Given the description of an element on the screen output the (x, y) to click on. 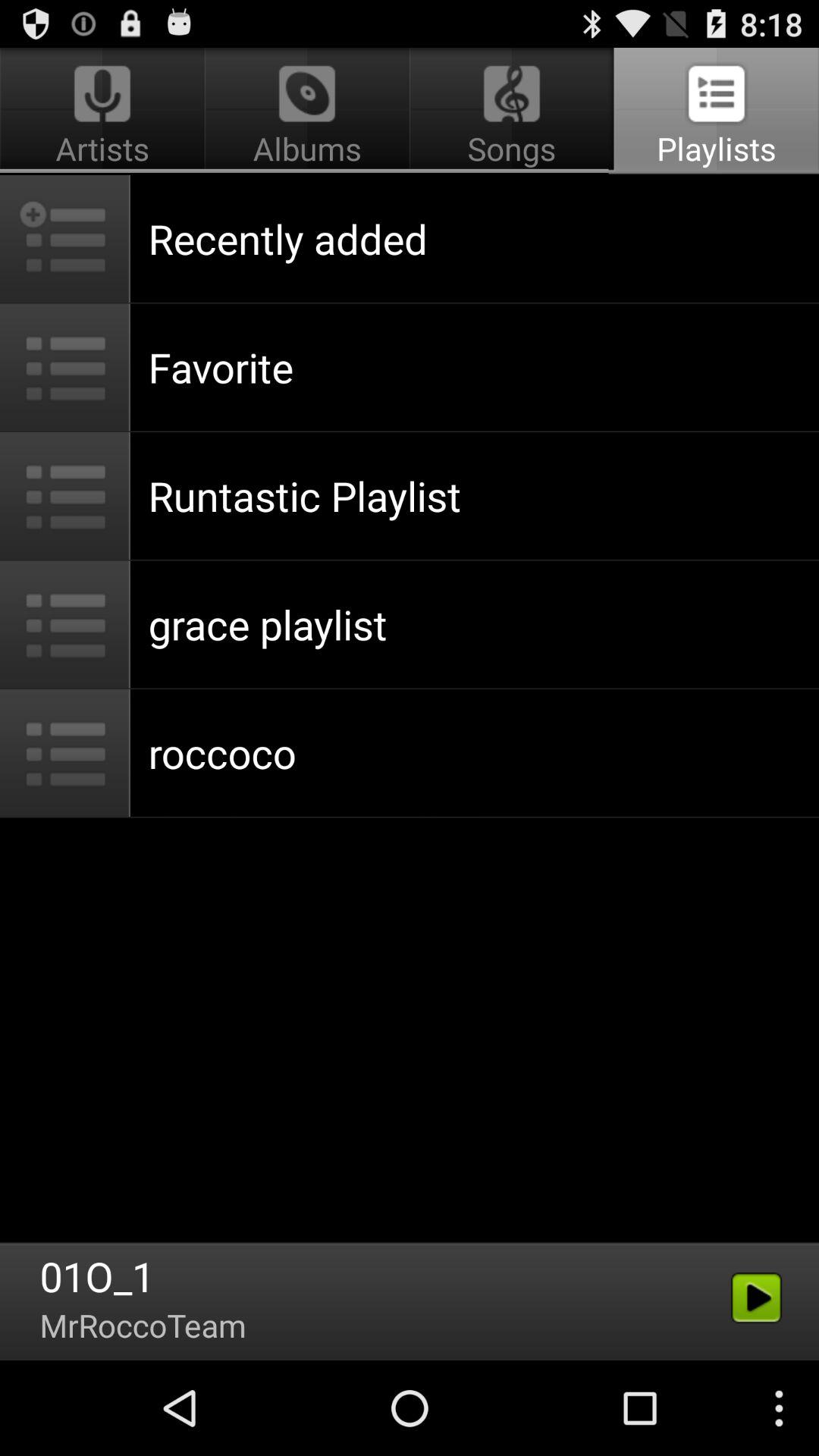
open the item to the left of songs (105, 111)
